Given the description of an element on the screen output the (x, y) to click on. 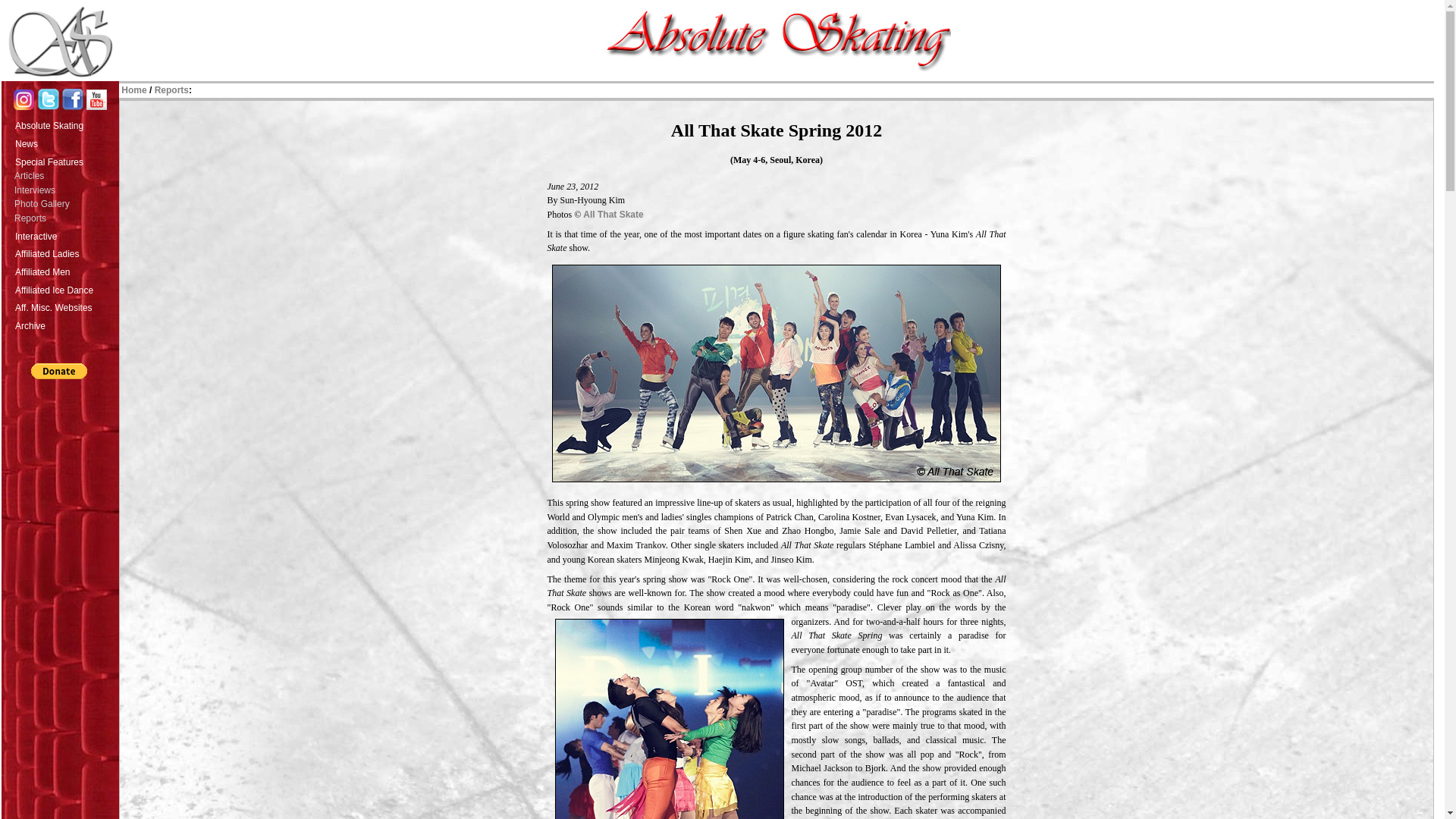
Absolute Skating (65, 124)
Reports (66, 218)
Photo Gallery (66, 204)
Affiliated Men (65, 270)
Interactive (65, 235)
Support the site (57, 371)
Affiliated Ladies (65, 252)
Special Features (65, 160)
Articles (66, 175)
Aff. Misc. Websites (65, 306)
Affiliated Ice Dance (65, 289)
News (65, 142)
Interviews (66, 190)
